Given the description of an element on the screen output the (x, y) to click on. 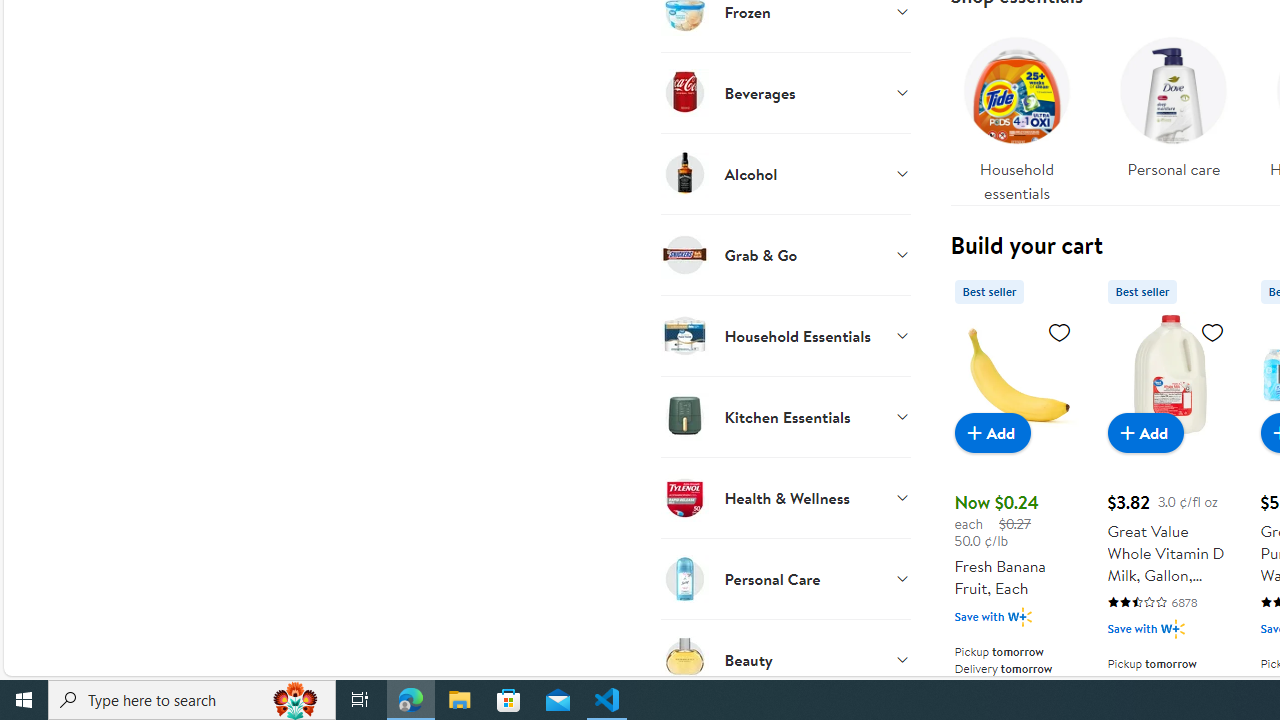
Walmart Plus (1172, 628)
Kitchen Essentials (785, 416)
Household essentials (1016, 114)
Health & Wellness (785, 497)
Personal care (1174, 101)
Beverages (785, 92)
Personal Care (785, 578)
Fresh Banana Fruit, Each (1016, 374)
Alcohol (785, 173)
